Given the description of an element on the screen output the (x, y) to click on. 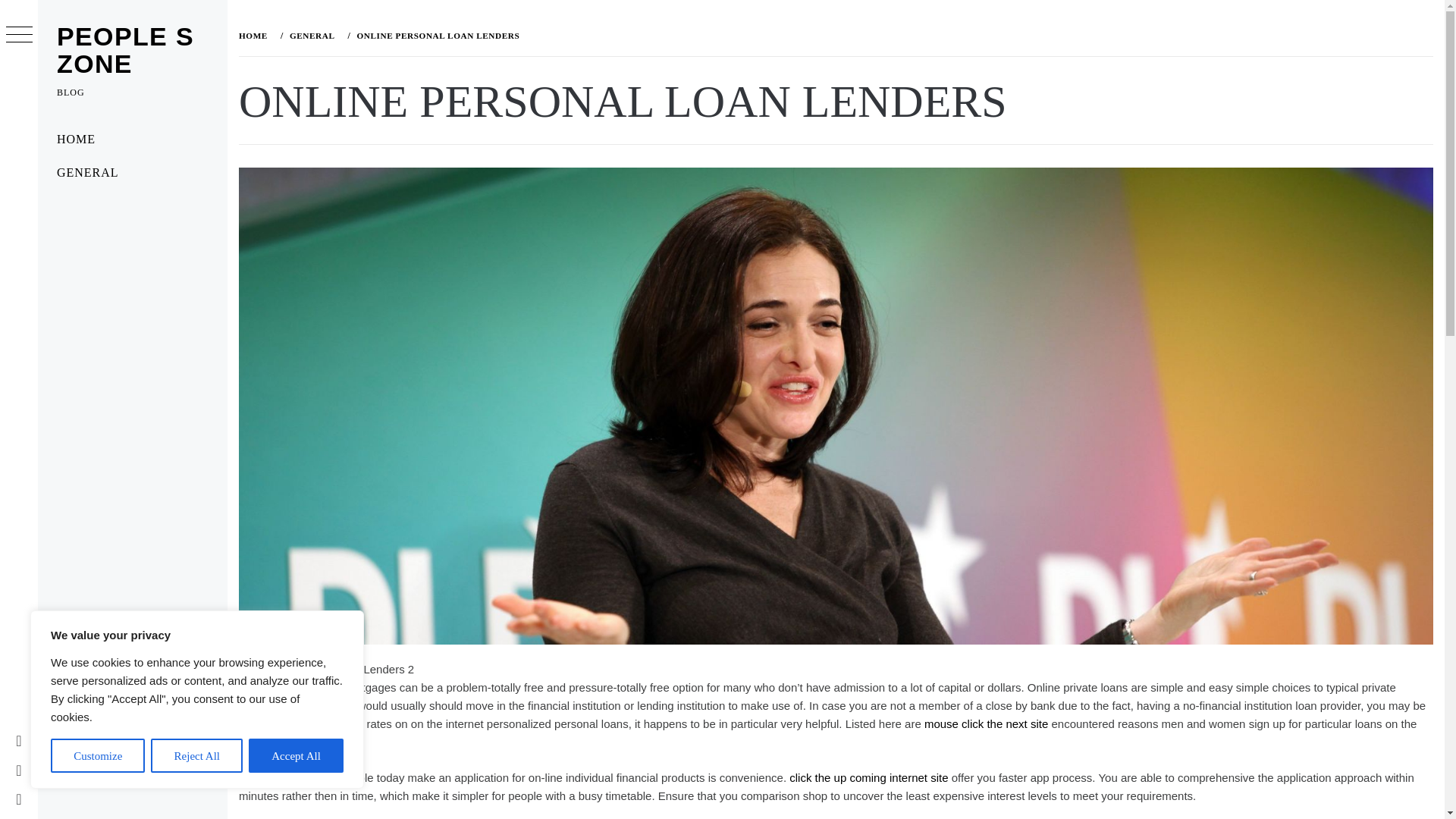
HOME (132, 139)
HOME (255, 35)
Customize (97, 755)
Reject All (197, 755)
click the up coming internet site (868, 777)
Accept All (295, 755)
GENERAL (132, 172)
ONLINE PERSONAL LOAN LENDERS (435, 35)
PEOPLE S ZONE (124, 49)
mouse click the next site (986, 723)
